Given the description of an element on the screen output the (x, y) to click on. 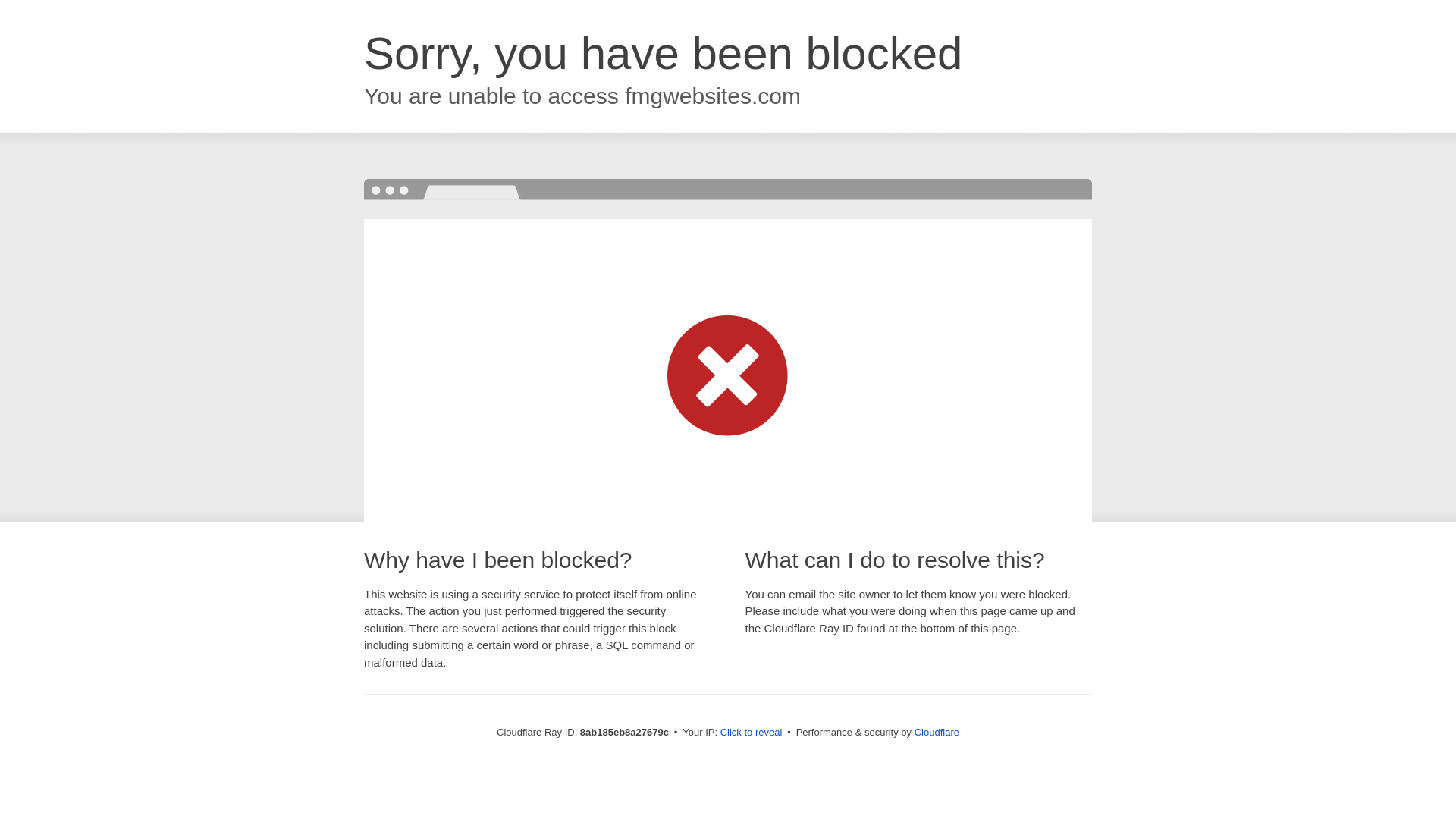
Cloudflare (936, 731)
Click to reveal (751, 732)
